Given the description of an element on the screen output the (x, y) to click on. 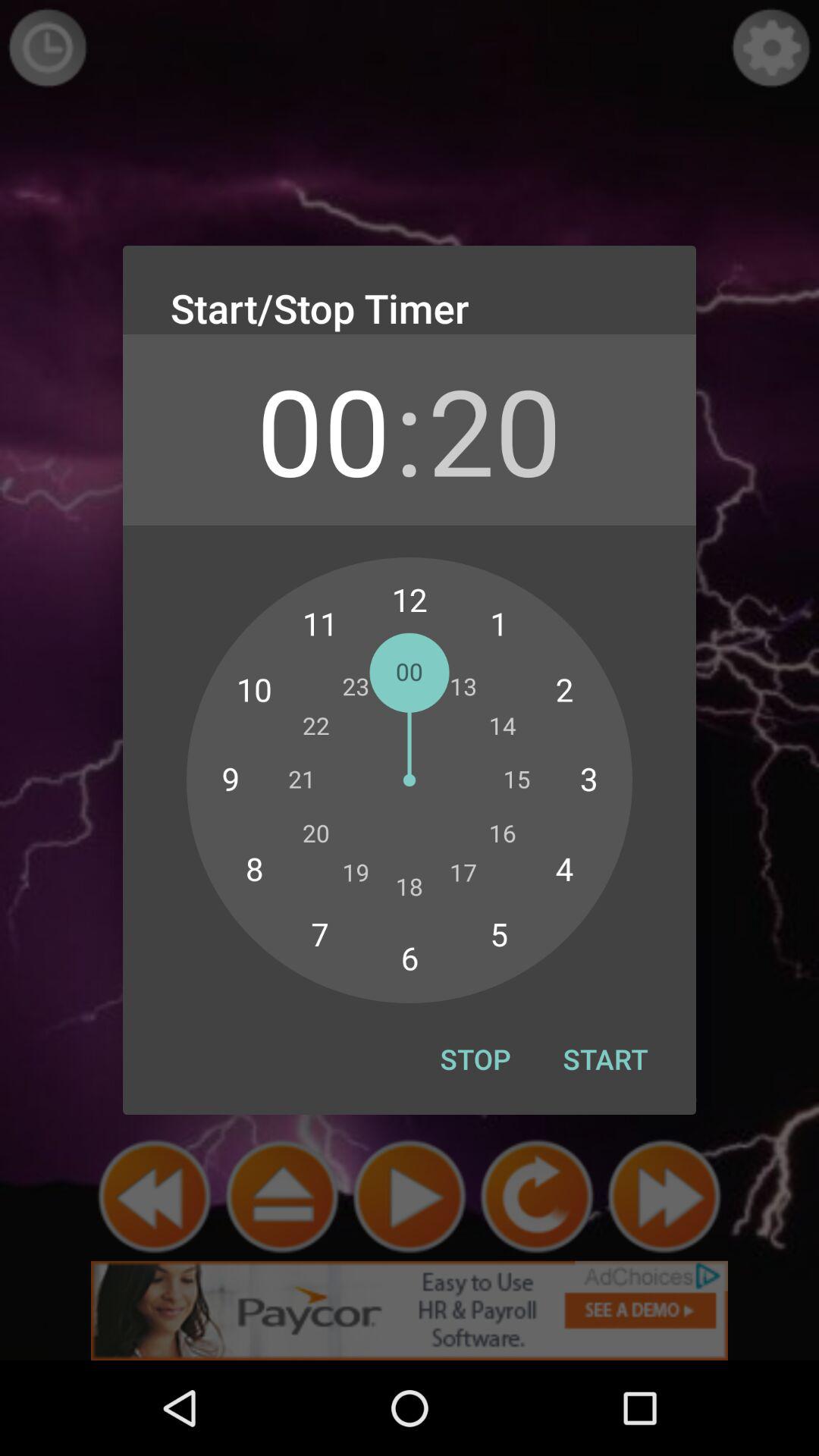
scroll until the 00 item (323, 429)
